Given the description of an element on the screen output the (x, y) to click on. 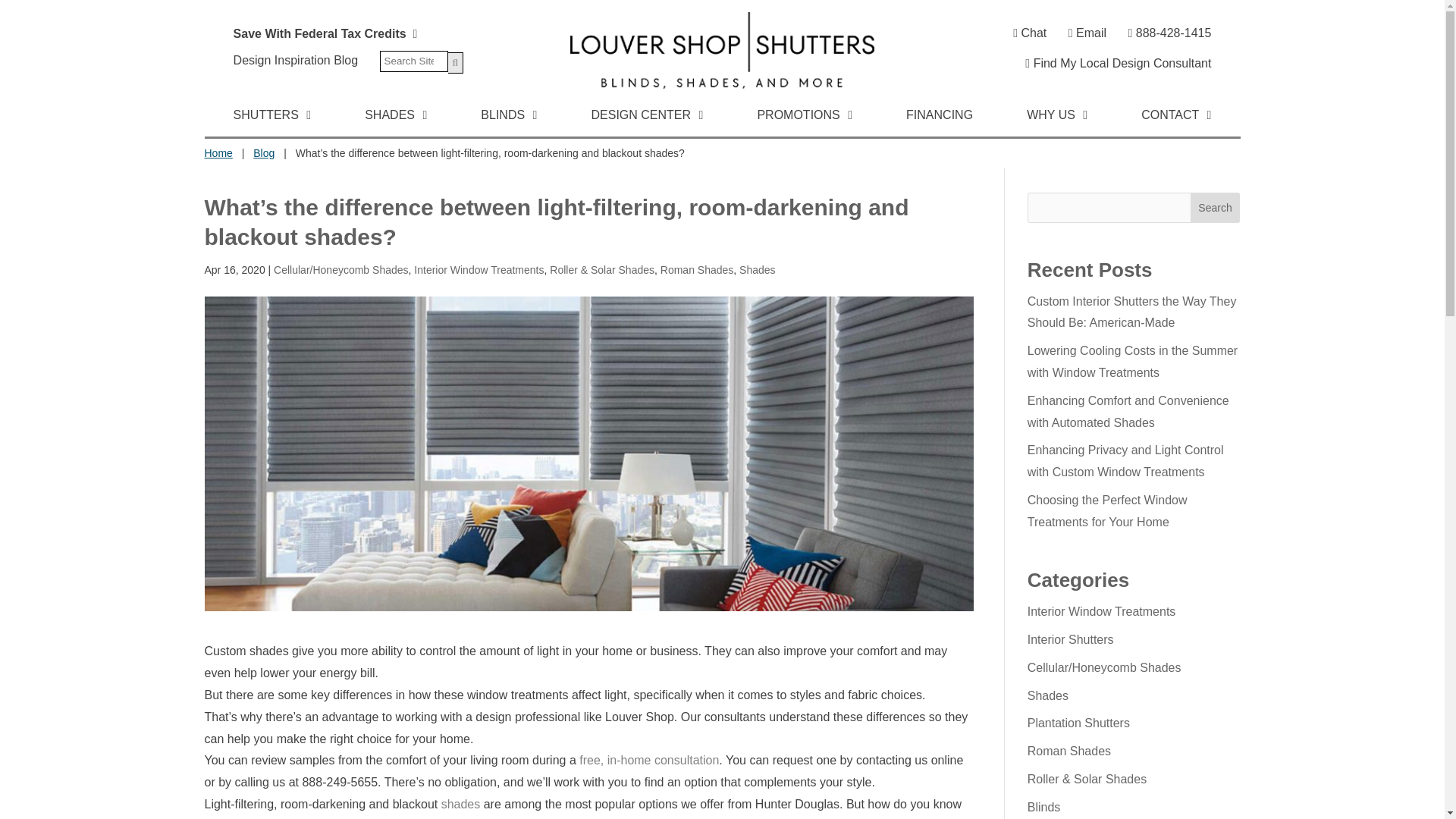
Save With Federal Tax Credits   (324, 33)
Design Inspiration Blog (295, 60)
BLINDS (508, 118)
Email (1087, 32)
SHADES (395, 118)
888-428-1415 (1168, 33)
SHUTTERS (271, 118)
Logo - Louver Shop Shutters (722, 50)
